Given the description of an element on the screen output the (x, y) to click on. 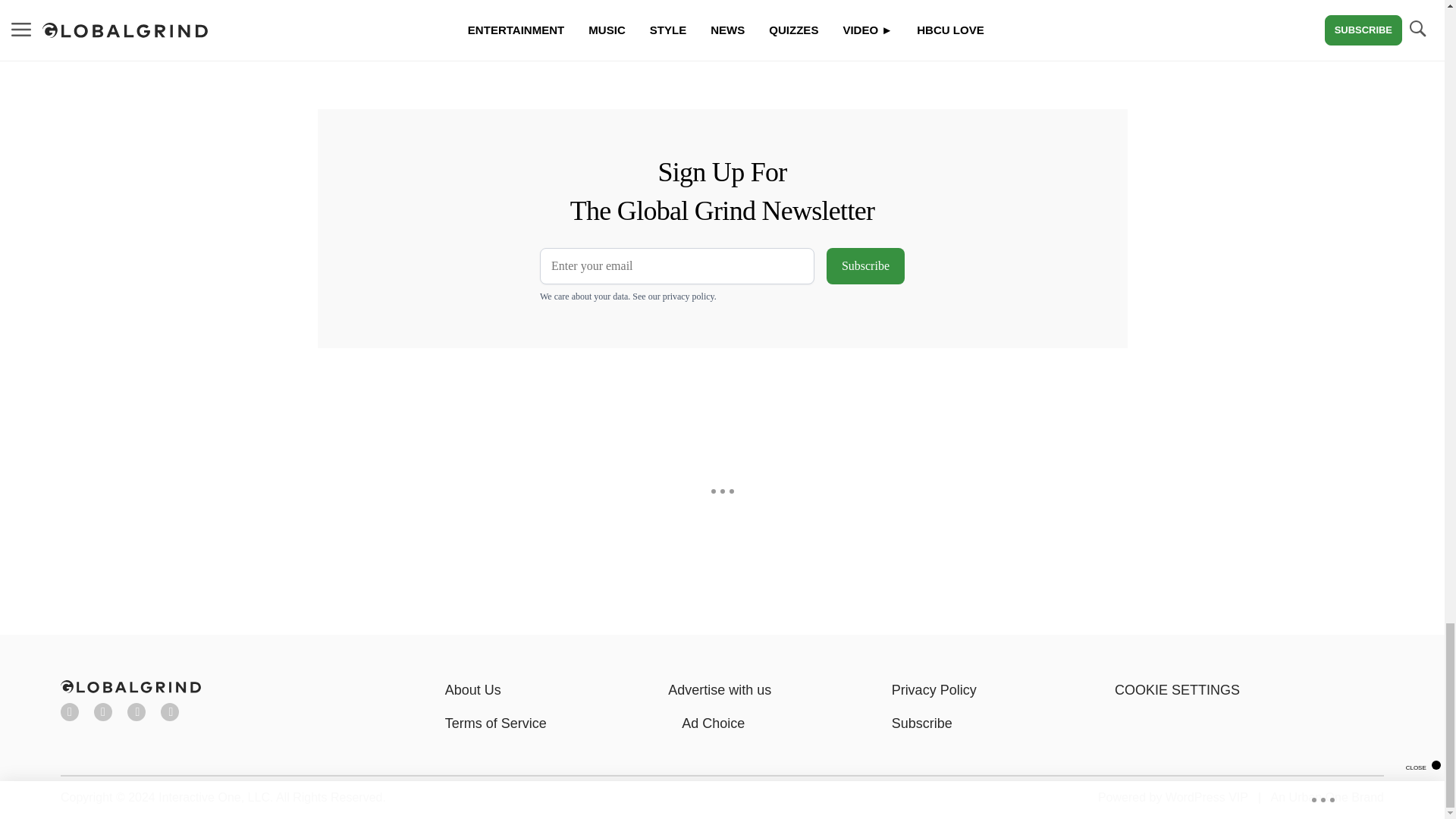
Load More (240, 38)
Load More (596, 38)
